Given the description of an element on the screen output the (x, y) to click on. 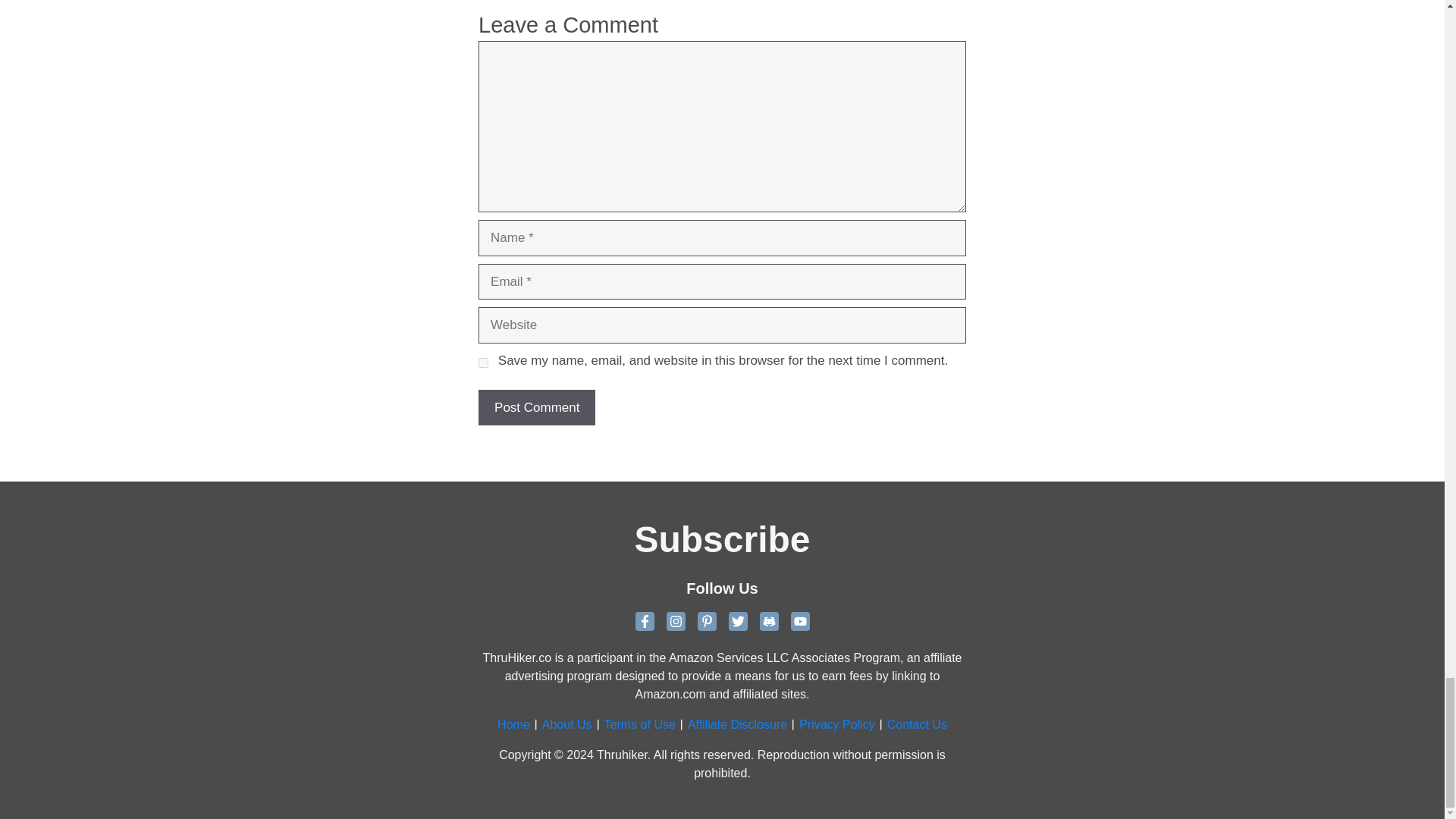
Post Comment (537, 407)
Post Comment (537, 407)
yes (483, 362)
